Given the description of an element on the screen output the (x, y) to click on. 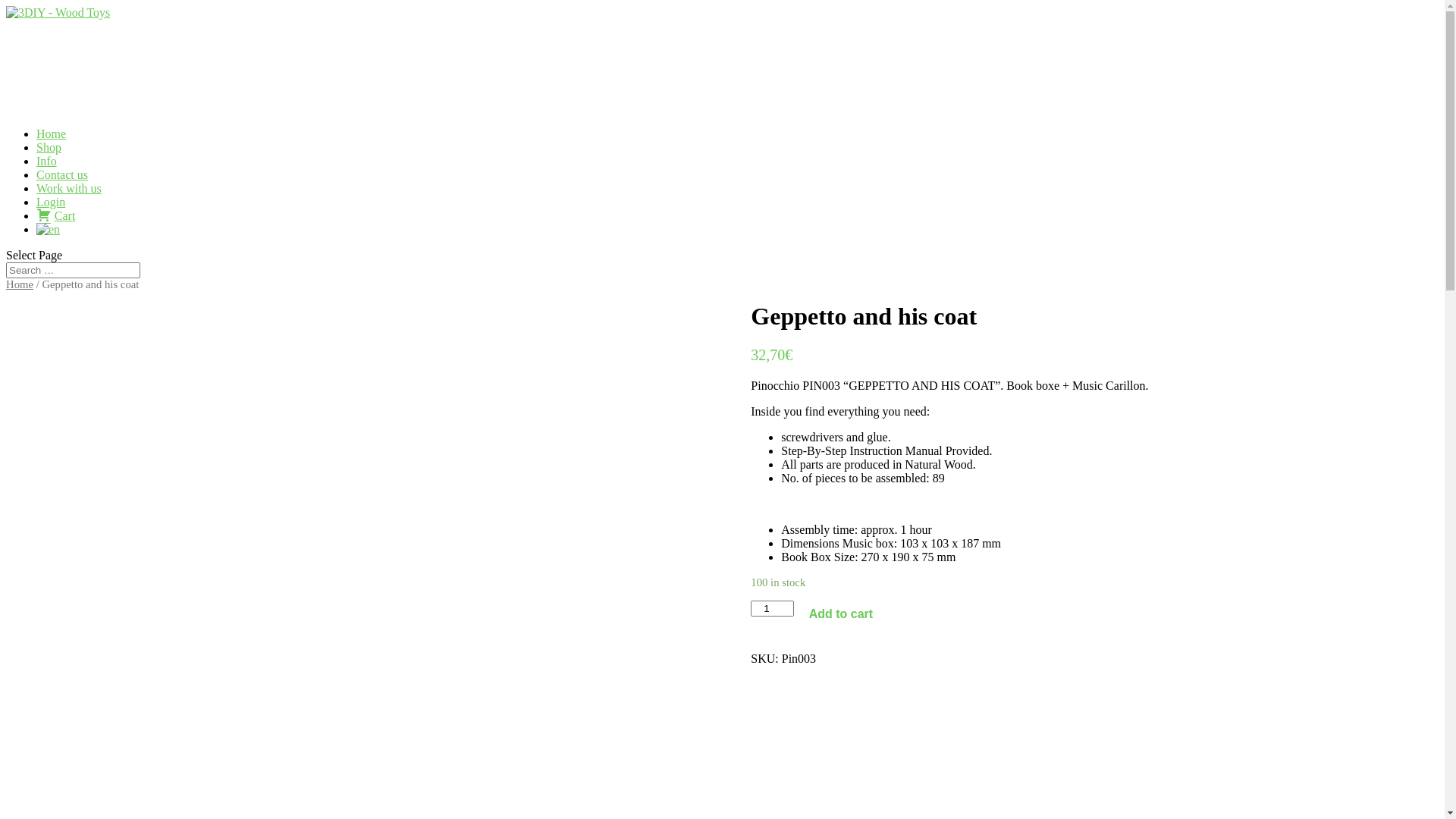
Home Element type: text (50, 143)
Home Element type: text (19, 284)
Login Element type: text (50, 211)
Shop Element type: text (48, 157)
Cart Element type: text (55, 225)
Info Element type: text (46, 170)
Add to cart Element type: text (840, 613)
Search for: Element type: hover (73, 270)
Contact us Element type: text (61, 184)
English Element type: hover (47, 229)
Work with us Element type: text (68, 198)
Qty Element type: hover (771, 608)
